Given the description of an element on the screen output the (x, y) to click on. 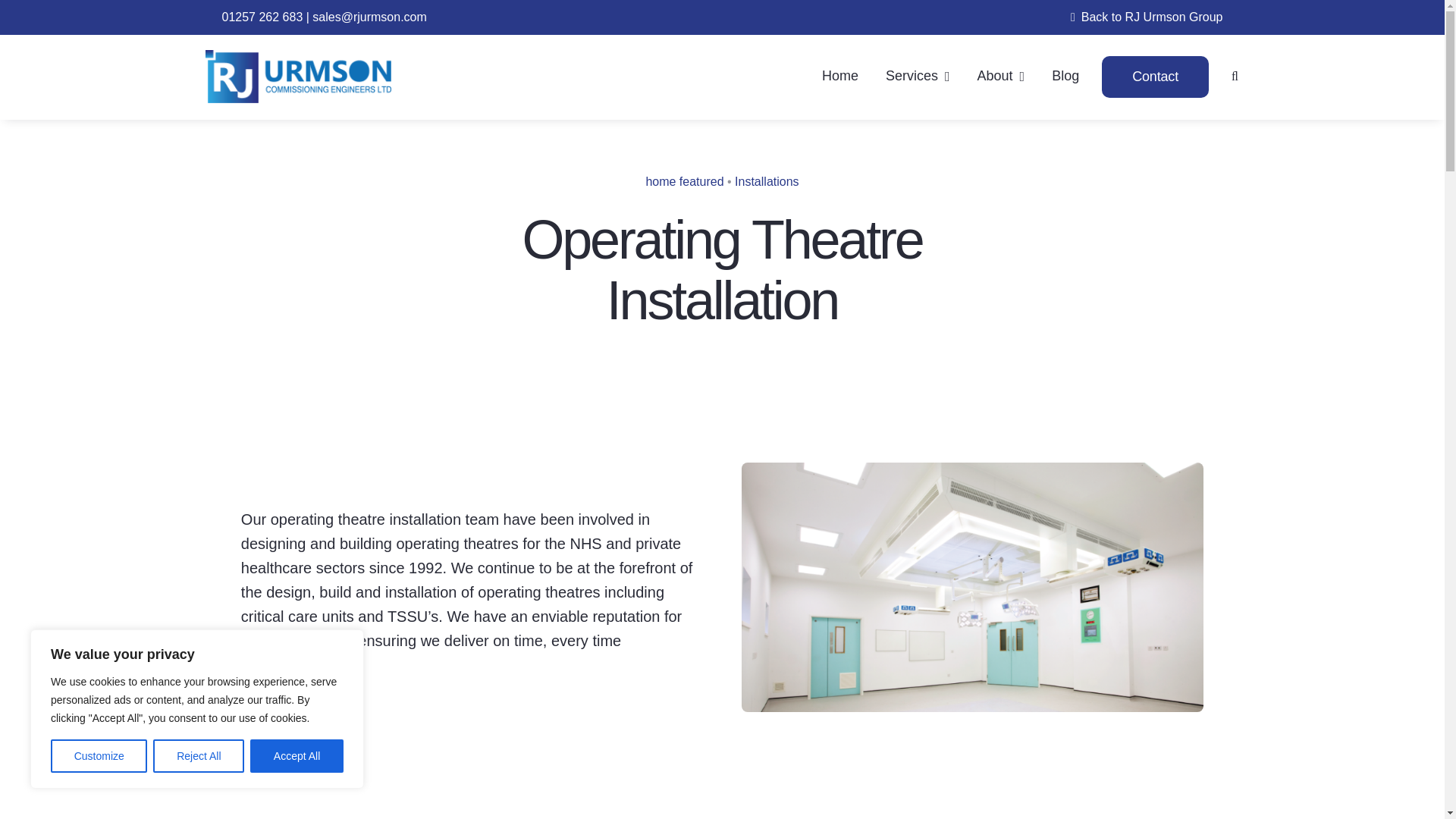
Accept All (296, 756)
home featured (684, 181)
Home (839, 76)
Reject All (198, 756)
Back to RJ Urmson Group (1143, 17)
Services (917, 76)
About (1000, 76)
01257 262 683 (261, 16)
Customize (98, 756)
Installations (767, 181)
